Given the description of an element on the screen output the (x, y) to click on. 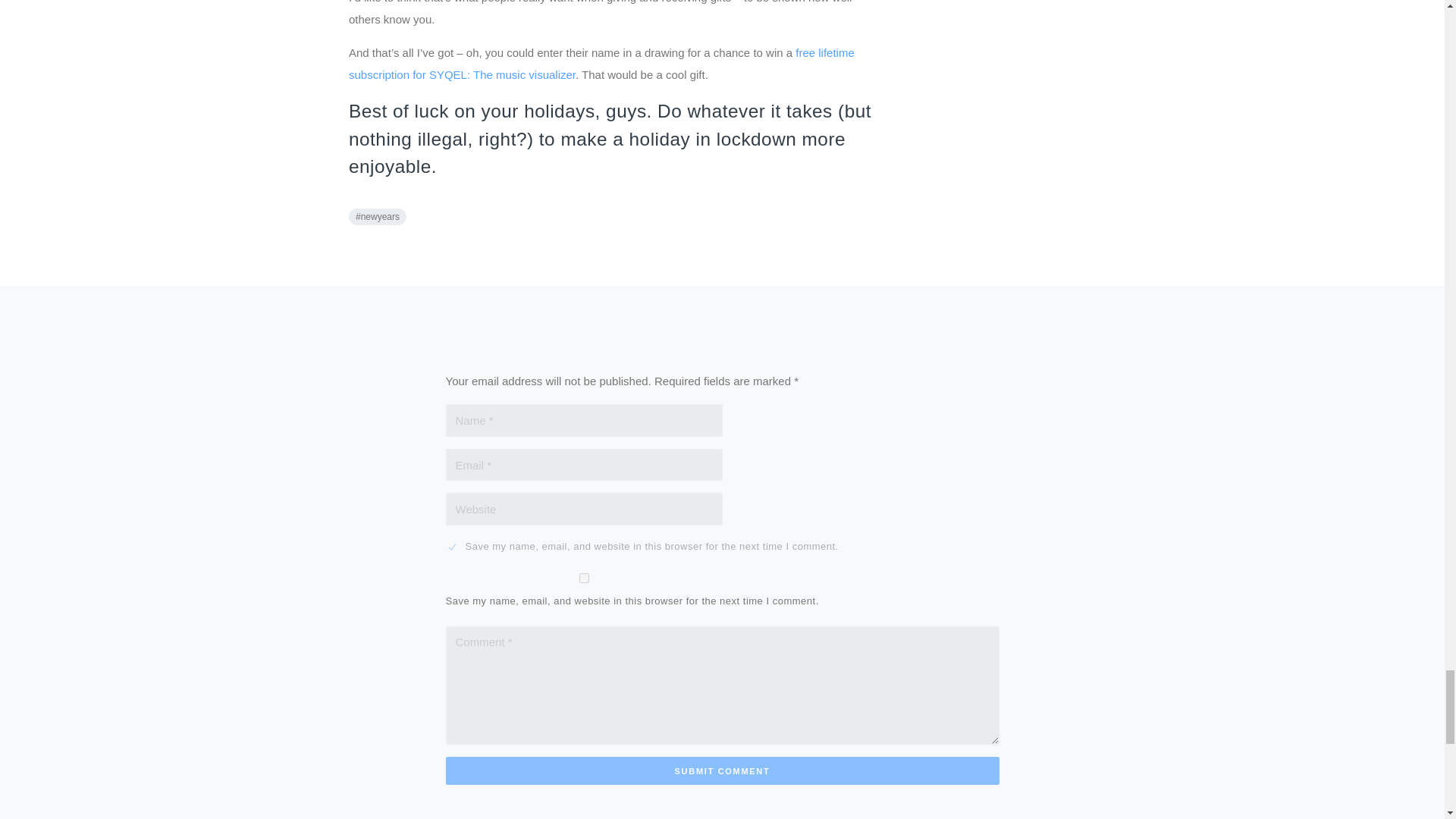
Submit Comment (721, 770)
free lifetime subscription for SYQEL: The music visualizer (601, 63)
yes (583, 578)
